Given the description of an element on the screen output the (x, y) to click on. 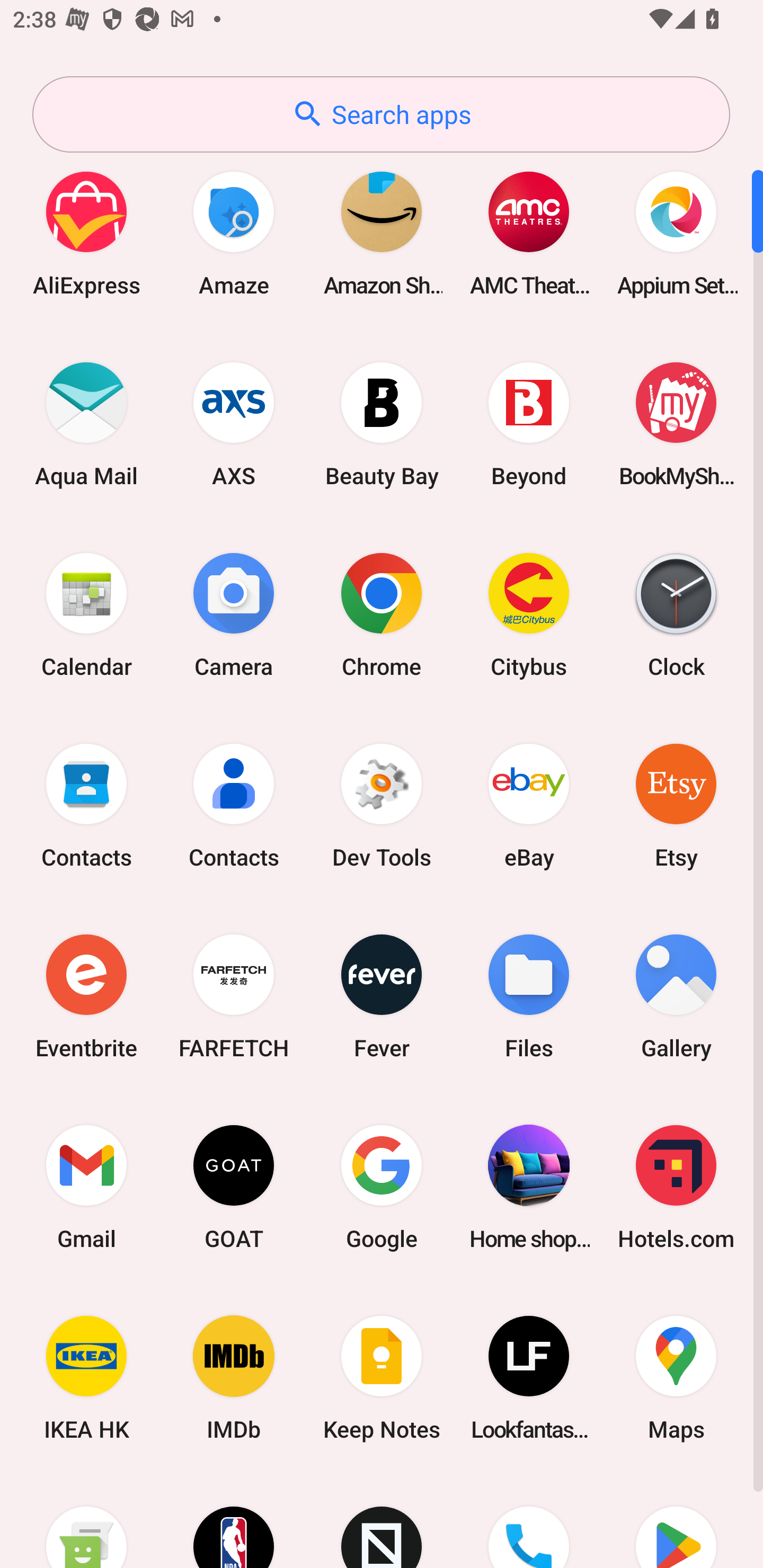
  Search apps (381, 114)
AliExpress (86, 233)
Amaze (233, 233)
Amazon Shopping (381, 233)
AMC Theatres (528, 233)
Appium Settings (676, 233)
Aqua Mail (86, 424)
AXS (233, 424)
Beauty Bay (381, 424)
Beyond (528, 424)
BookMyShow (676, 424)
Calendar (86, 614)
Camera (233, 614)
Chrome (381, 614)
Citybus (528, 614)
Clock (676, 614)
Contacts (86, 805)
Contacts (233, 805)
Dev Tools (381, 805)
eBay (528, 805)
Etsy (676, 805)
Eventbrite (86, 996)
FARFETCH (233, 996)
Fever (381, 996)
Files (528, 996)
Gallery (676, 996)
Gmail (86, 1186)
GOAT (233, 1186)
Google (381, 1186)
Home shopping (528, 1186)
Hotels.com (676, 1186)
IKEA HK (86, 1377)
IMDb (233, 1377)
Keep Notes (381, 1377)
Lookfantastic (528, 1377)
Maps (676, 1377)
Messaging (86, 1520)
NBA (233, 1520)
Novelship (381, 1520)
Phone (528, 1520)
Play Store (676, 1520)
